Given the description of an element on the screen output the (x, y) to click on. 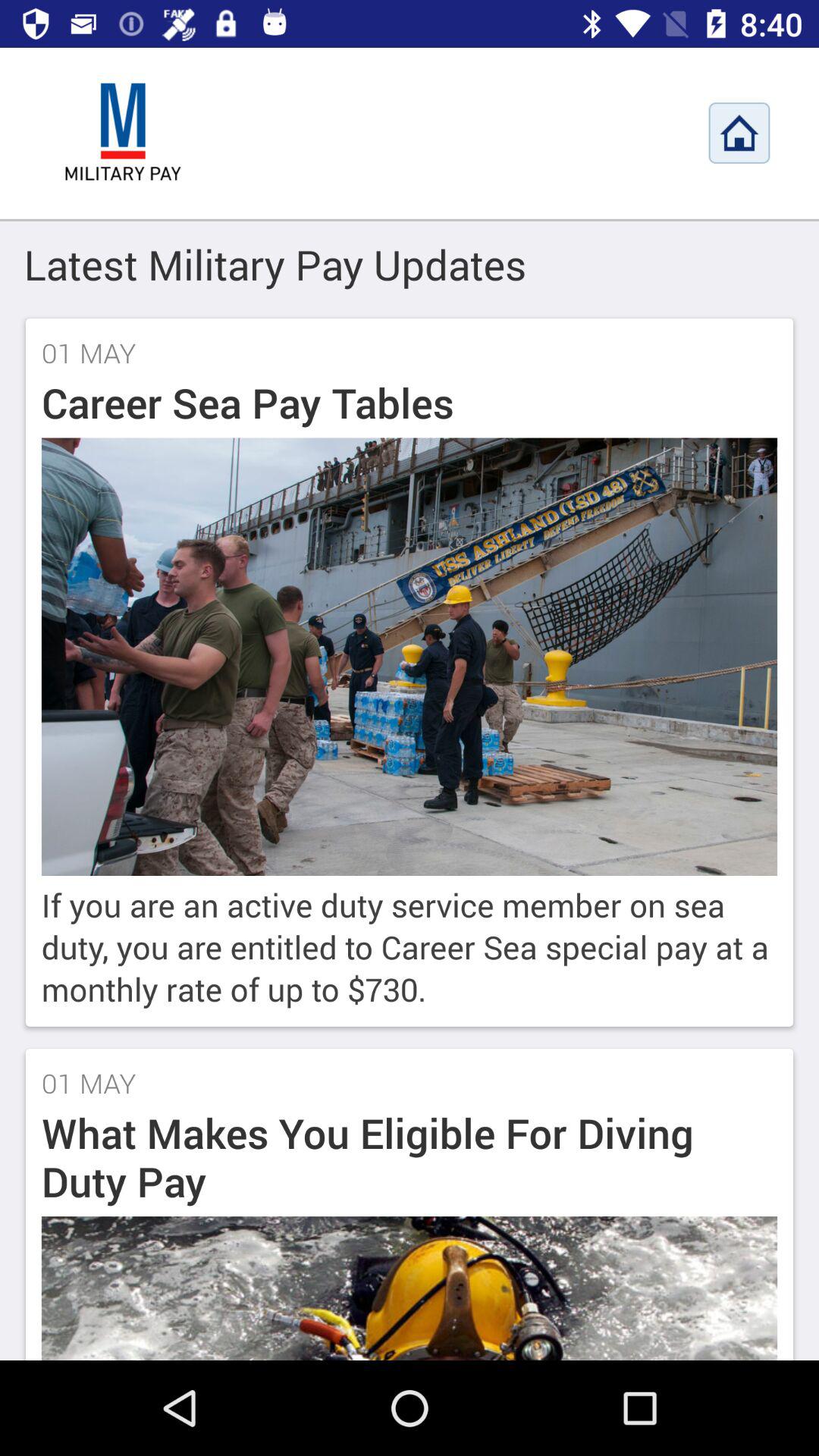
home screen recents (739, 132)
